Given the description of an element on the screen output the (x, y) to click on. 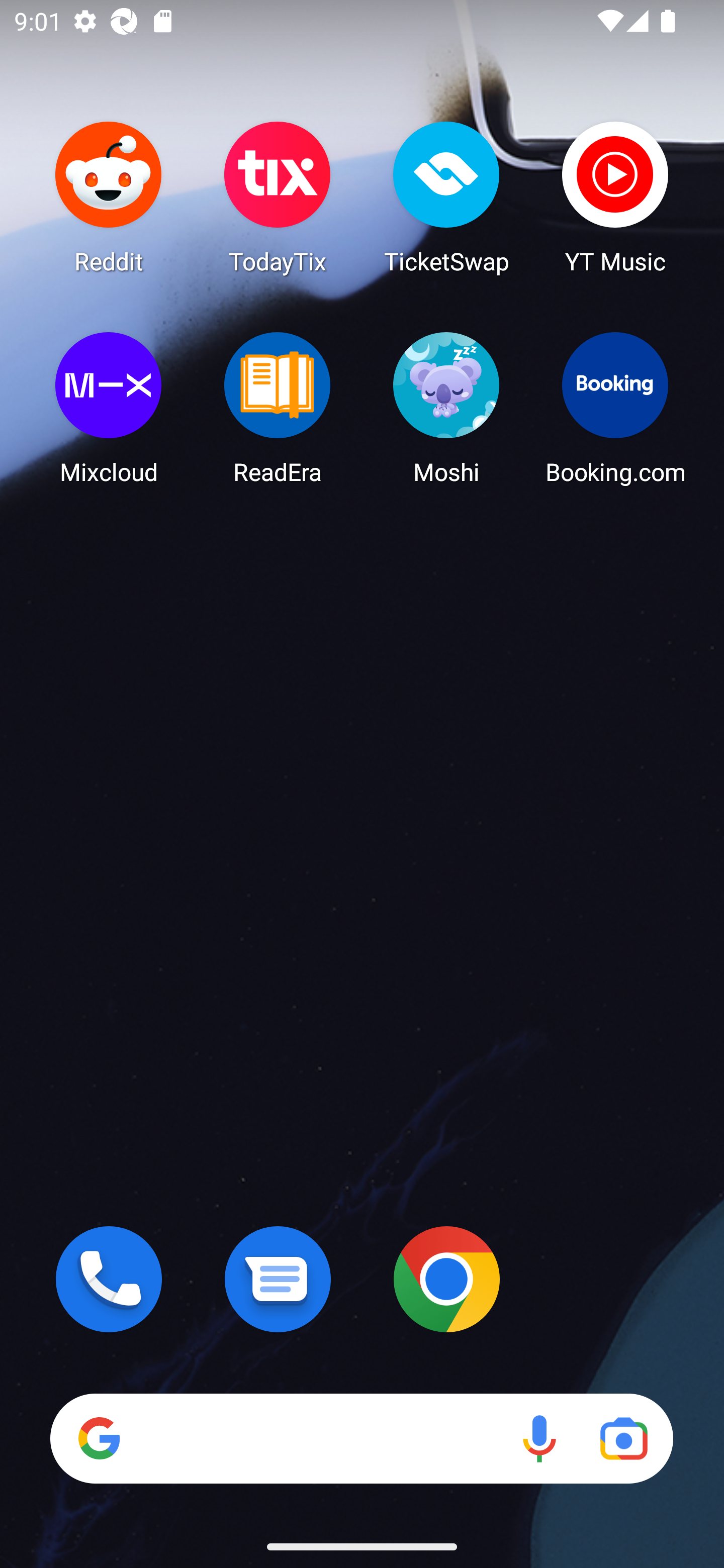
Reddit (108, 196)
TodayTix (277, 196)
TicketSwap (445, 196)
YT Music (615, 196)
Mixcloud (108, 407)
ReadEra (277, 407)
Moshi (445, 407)
Booking.com (615, 407)
Phone (108, 1279)
Messages (277, 1279)
Chrome (446, 1279)
Search Voice search Google Lens (361, 1438)
Voice search (539, 1438)
Google Lens (623, 1438)
